Given the description of an element on the screen output the (x, y) to click on. 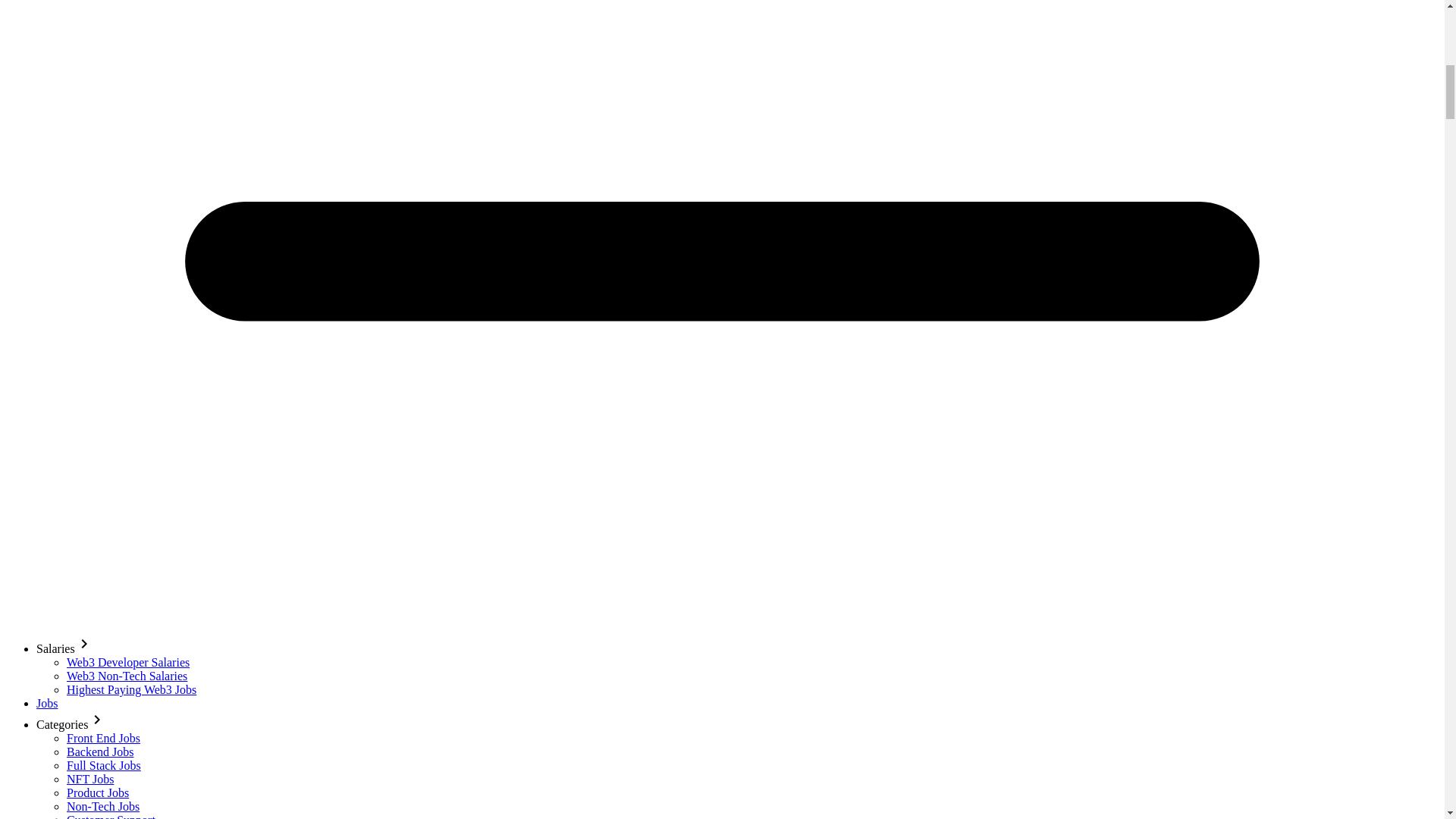
Jobs (47, 703)
Web3 Developer Salaries (127, 662)
Full Stack Jobs (103, 765)
Highest Paying Web3 Jobs (131, 689)
Product Jobs (97, 792)
Web3 Non-Tech Salaries (126, 675)
Salaries (64, 648)
Non-Tech Jobs (102, 806)
Front End Jobs (102, 738)
Customer Support (110, 816)
